Given the description of an element on the screen output the (x, y) to click on. 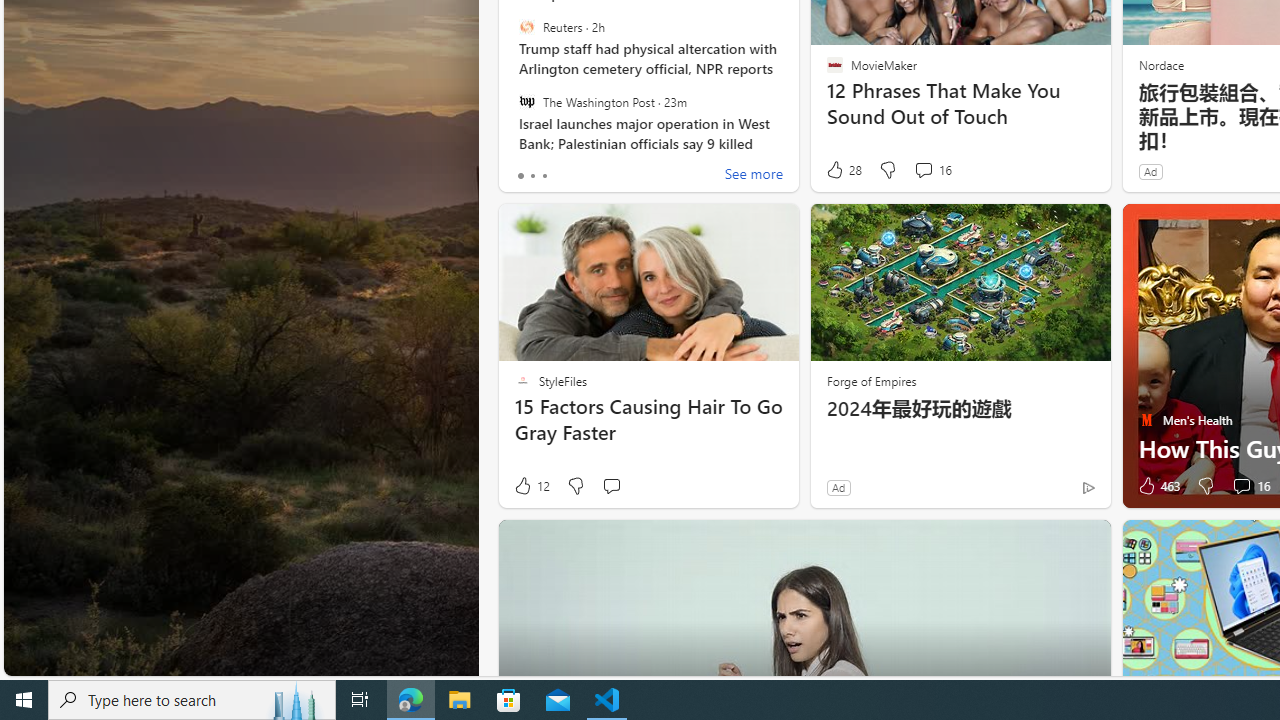
View comments 16 Comment (1241, 485)
tab-1 (532, 175)
463 Like (1157, 485)
12 Like (531, 485)
Forge of Empires (870, 380)
Reuters (526, 27)
tab-0 (520, 175)
